Given the description of an element on the screen output the (x, y) to click on. 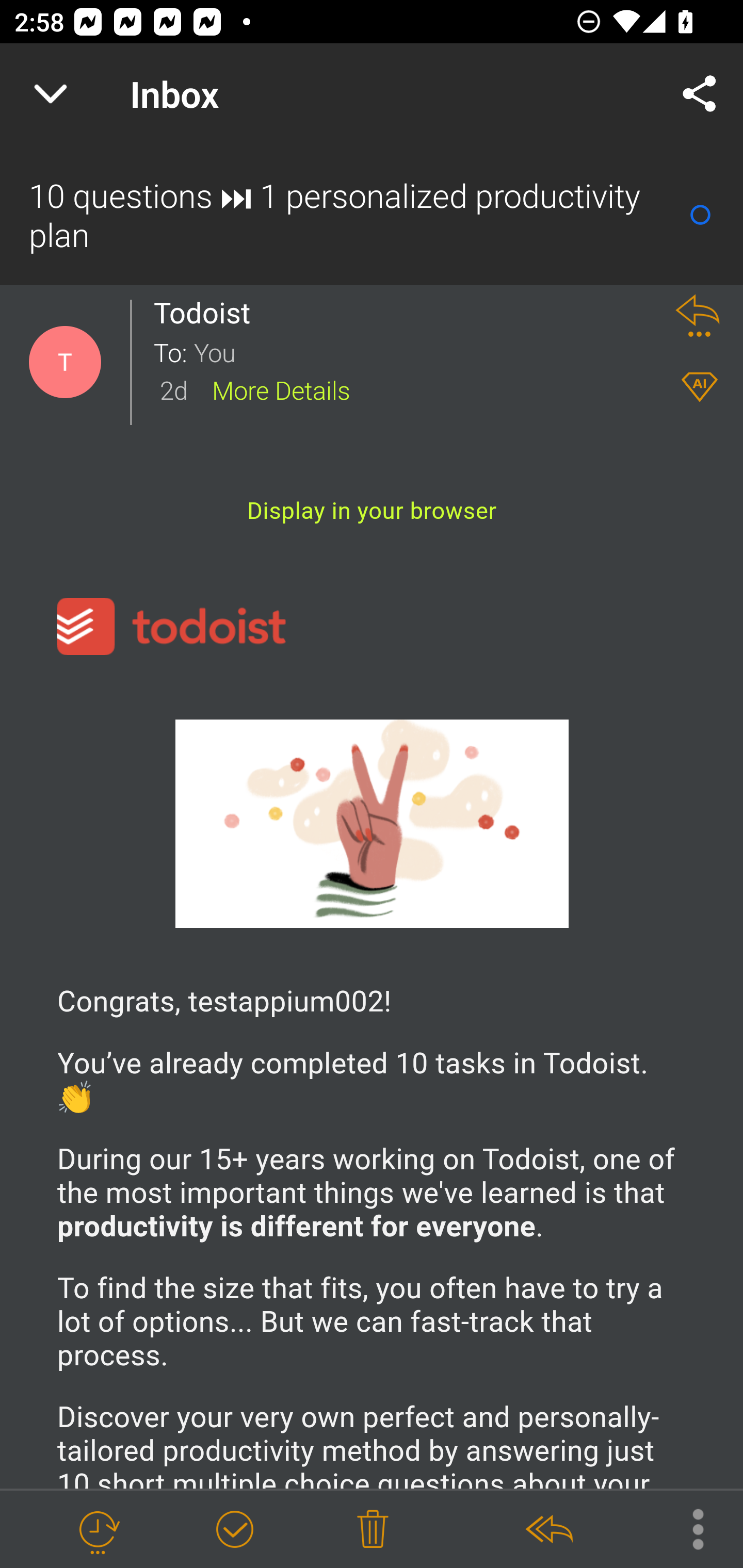
Navigate up (50, 93)
Share (699, 93)
Mark as Read (699, 214)
Todoist (207, 312)
Contact Details (64, 362)
More Details (280, 388)
Display in your browser (371, 510)
More Options (687, 1528)
Snooze (97, 1529)
Mark as Done (234, 1529)
Delete (372, 1529)
Reply All (548, 1529)
